Given the description of an element on the screen output the (x, y) to click on. 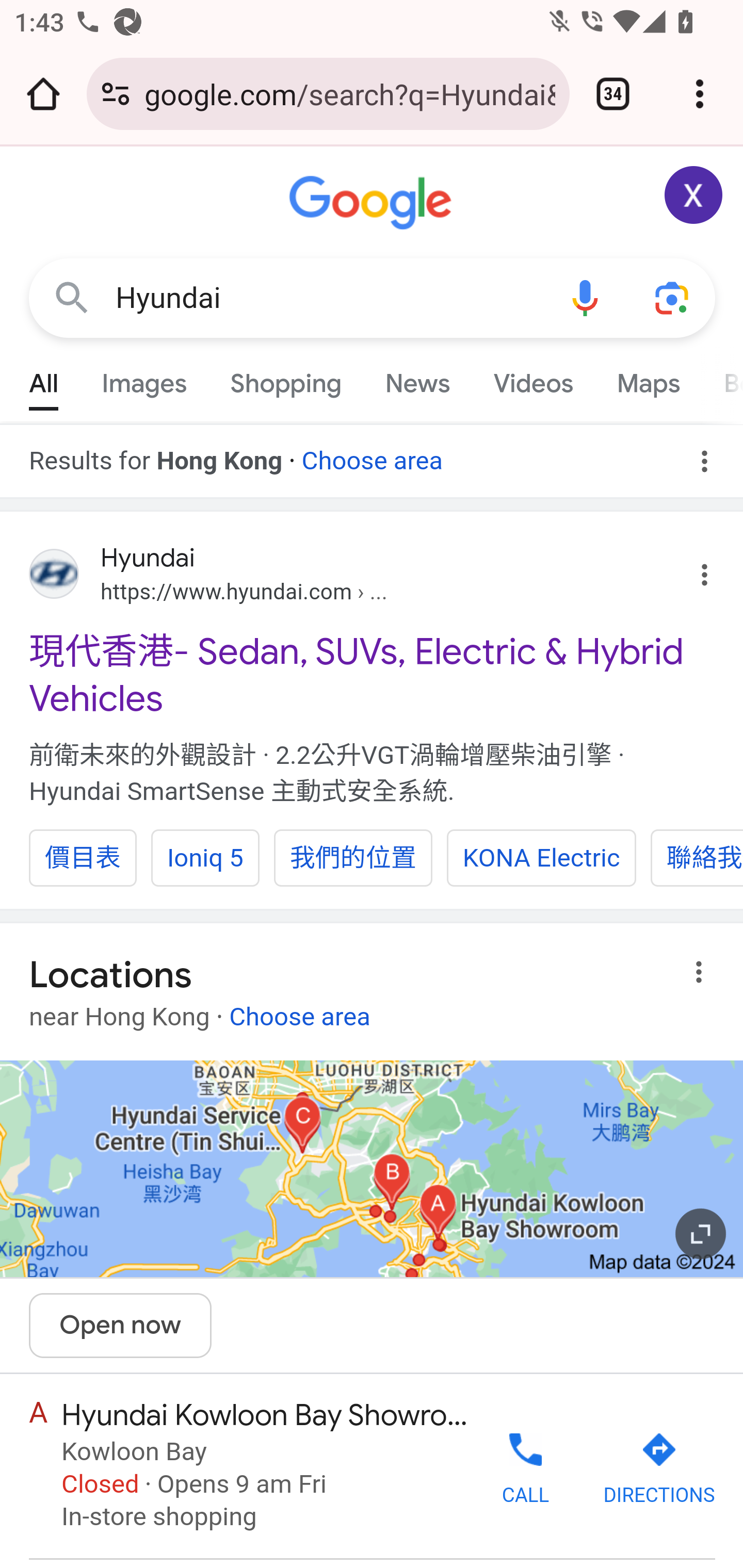
Open the home page (43, 93)
Connection is secure (115, 93)
Switch or close tabs (612, 93)
Customize and control Google Chrome (699, 93)
Google (372, 203)
Google Account: Xiaoran (zxrappiumtest@gmail.com) (694, 195)
Google Search (71, 296)
Search using your camera or photos (672, 296)
Hyundai (328, 297)
Images (144, 378)
Shopping (285, 378)
News (417, 378)
Videos (533, 378)
Maps (647, 378)
Choose area (371, 453)
現代香港- Sedan, SUVs, Electric & Hybrid Vehicles (372, 674)
價目表 (82, 857)
Ioniq 5 (204, 857)
我們的位置 (352, 857)
KONA Electric (541, 857)
聯絡我們 (696, 857)
About this result (702, 971)
Choose area (299, 1009)
Map of Hyundai (371, 1168)
Open now (120, 1325)
CALL (525, 1466)
DIRECTIONS (658, 1469)
